Given the description of an element on the screen output the (x, y) to click on. 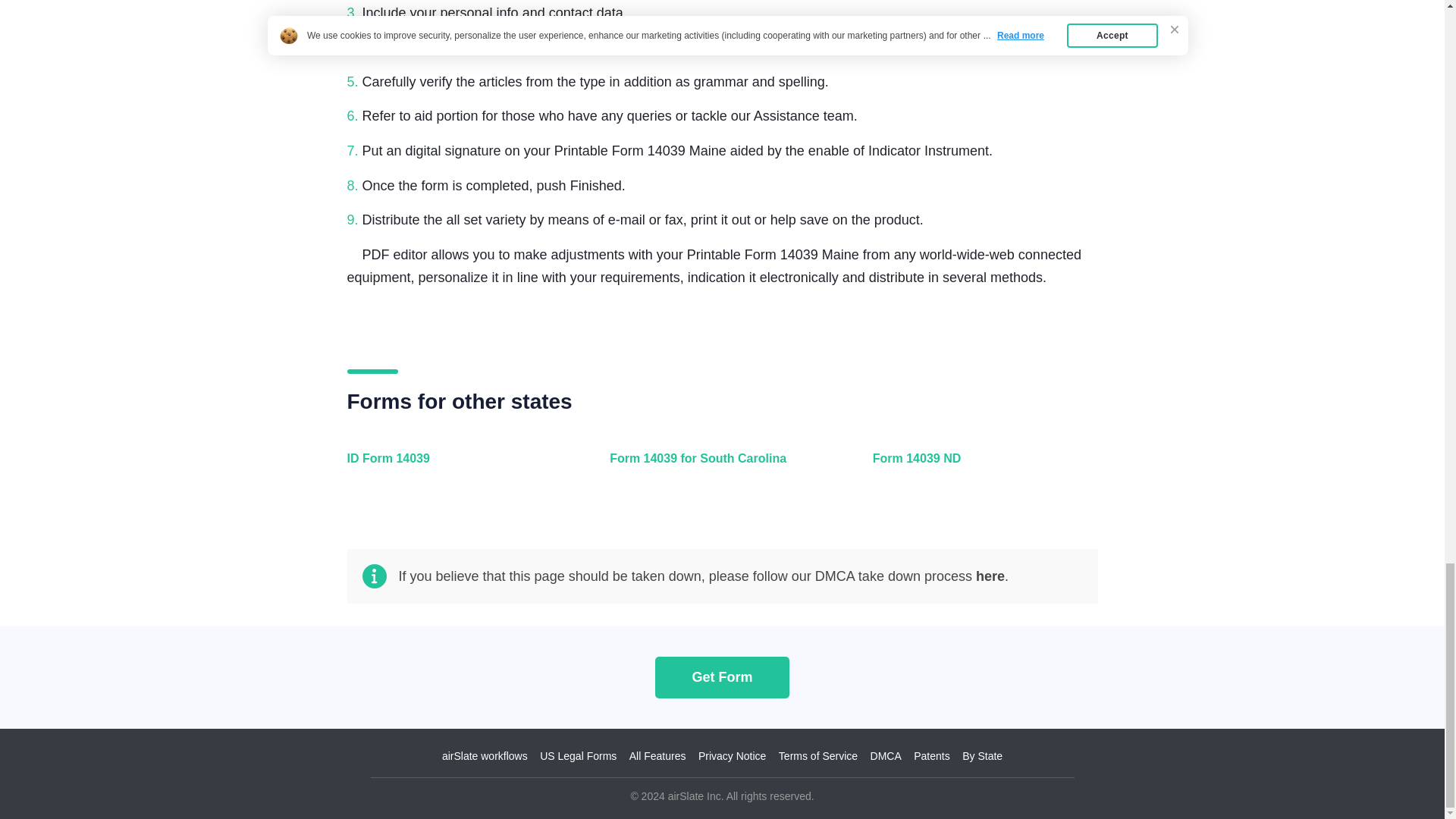
airSlate workflows (484, 756)
Form 14039 for South Carolina (718, 466)
US Legal Forms (577, 756)
Get Form (722, 676)
Terms of Service (817, 756)
Patents (931, 756)
here (989, 575)
All Features (656, 756)
Form 14039 ND (981, 466)
Privacy Notice (731, 756)
ID Form 14039 (456, 466)
DMCA (885, 756)
By State (982, 756)
